Given the description of an element on the screen output the (x, y) to click on. 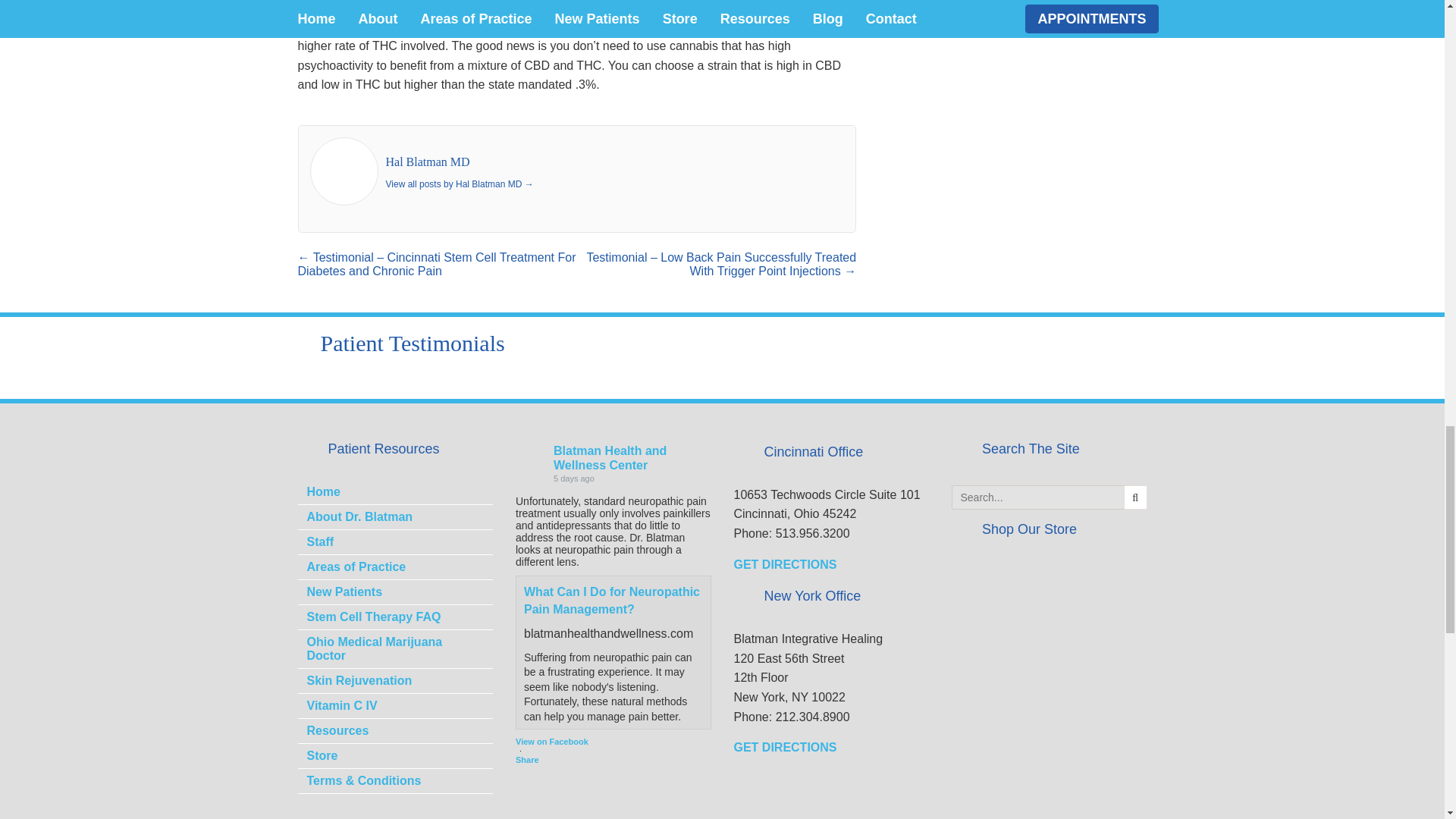
Share (551, 759)
Blatman Health and Wellness Center (530, 456)
View on Facebook (551, 741)
